Given the description of an element on the screen output the (x, y) to click on. 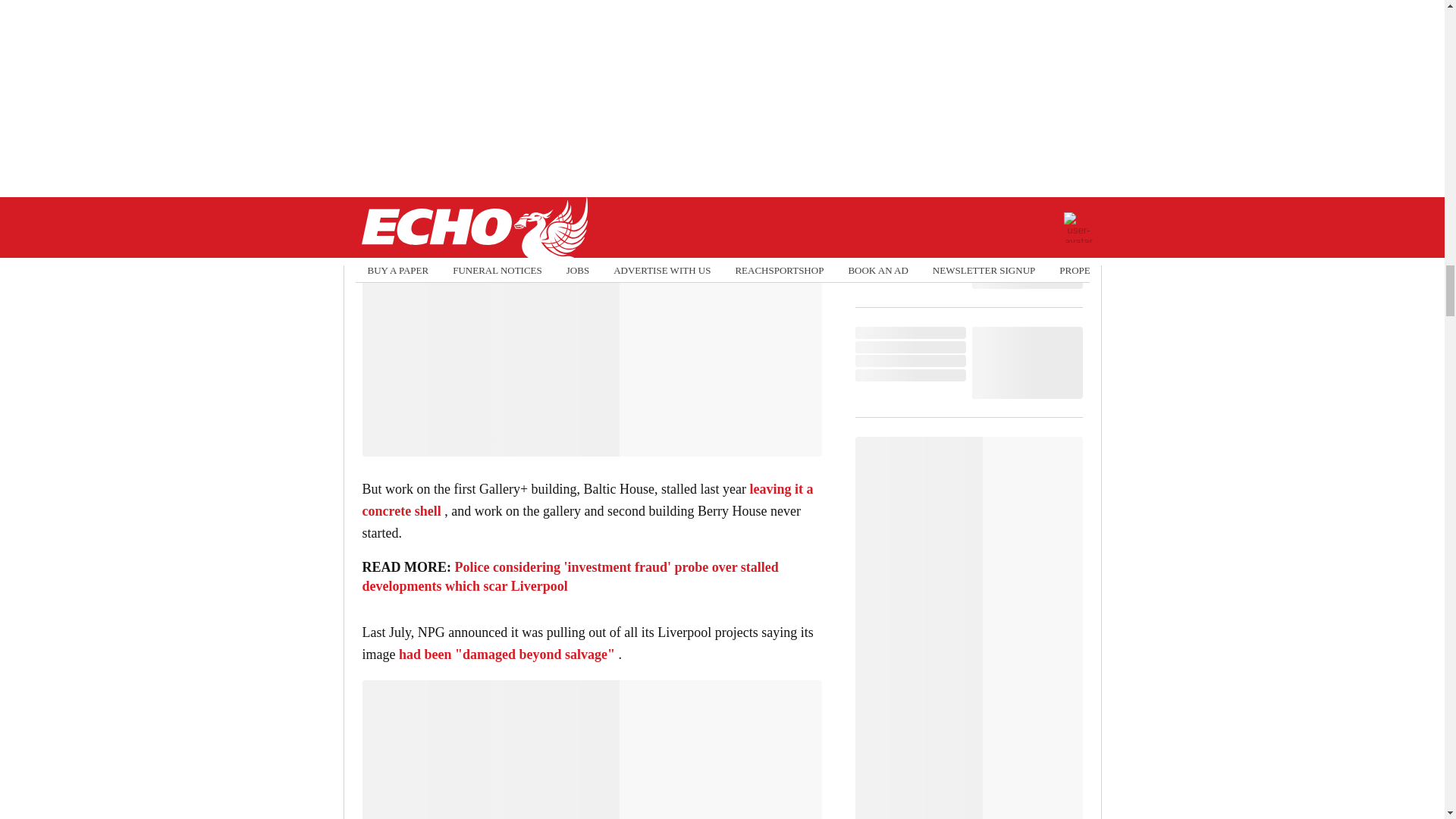
leaving it a concrete shell (587, 499)
had been "damaged beyond salvage" (506, 654)
